Given the description of an element on the screen output the (x, y) to click on. 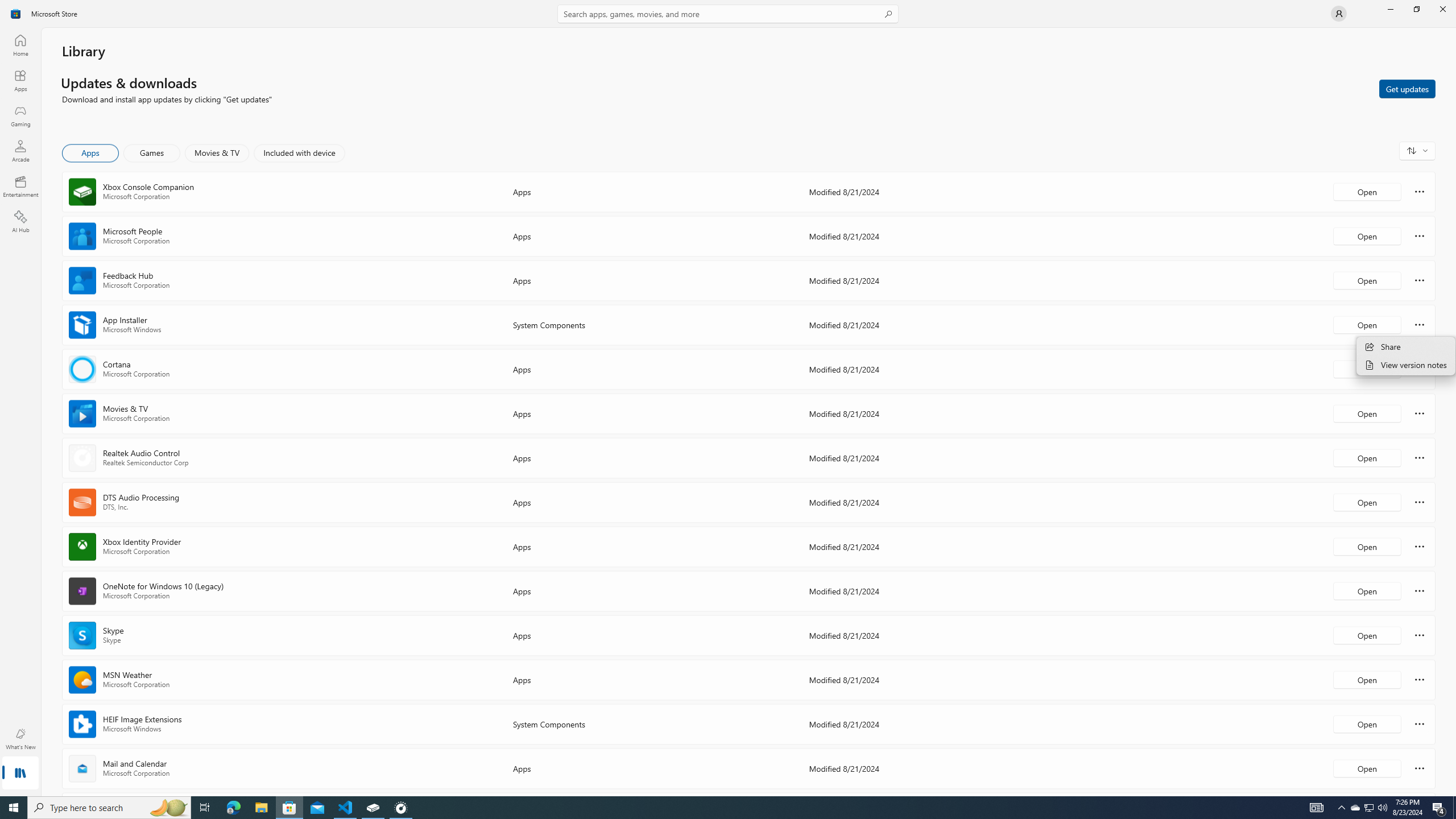
Movies & TV (216, 153)
AutomationID: NavigationControl (728, 398)
Open (1366, 768)
Games (151, 153)
Get updates (1406, 88)
More options (1419, 768)
